Given the description of an element on the screen output the (x, y) to click on. 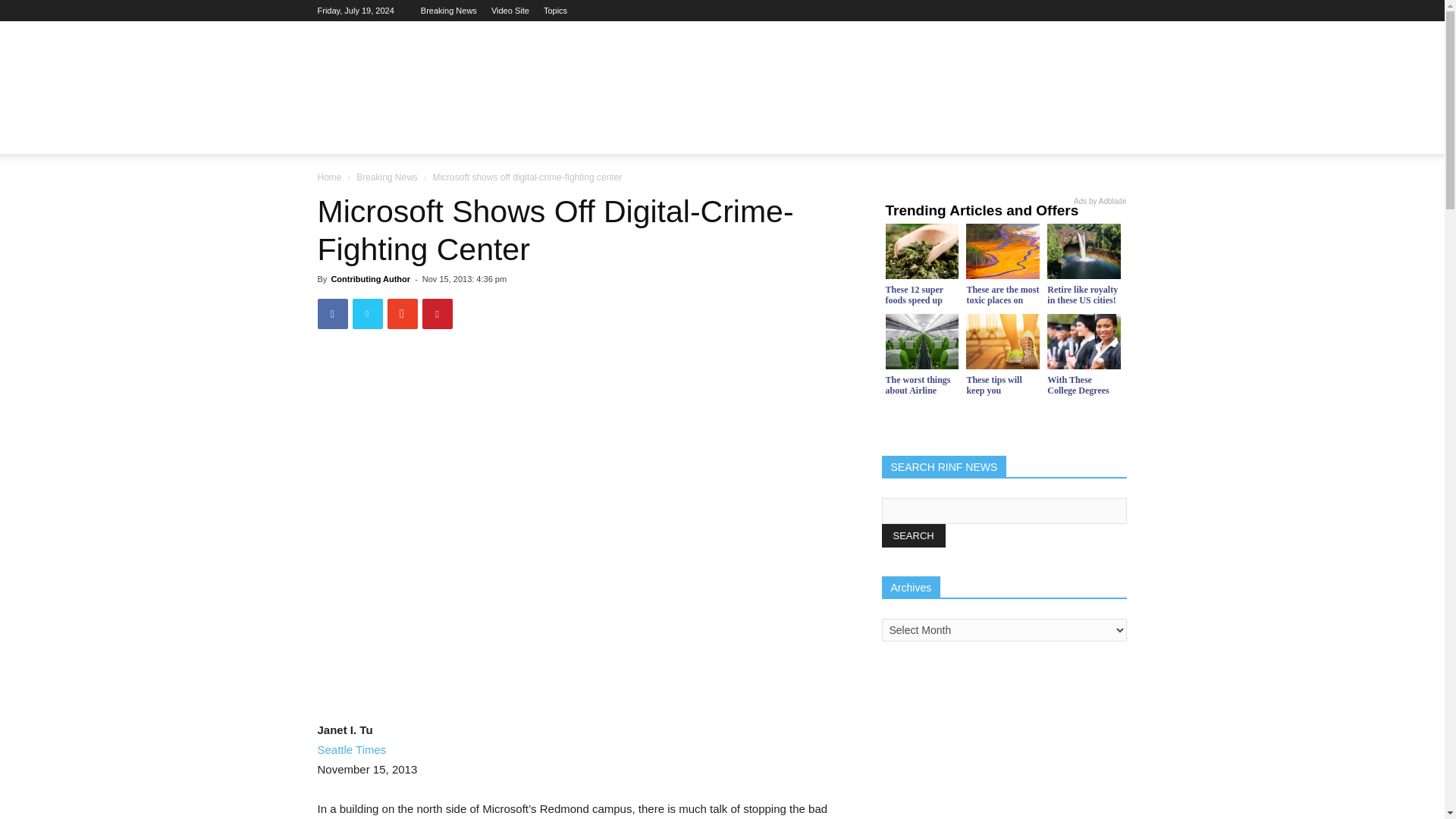
Topics (555, 10)
Seattle Times (351, 748)
Breaking News (448, 10)
SEARCH (912, 535)
Video Site (510, 10)
Search (1085, 196)
Home (328, 176)
Advertisement (850, 76)
Contributing Author (370, 278)
Breaking News (386, 176)
RINF REPORTS (426, 135)
HOME (343, 135)
